Given the description of an element on the screen output the (x, y) to click on. 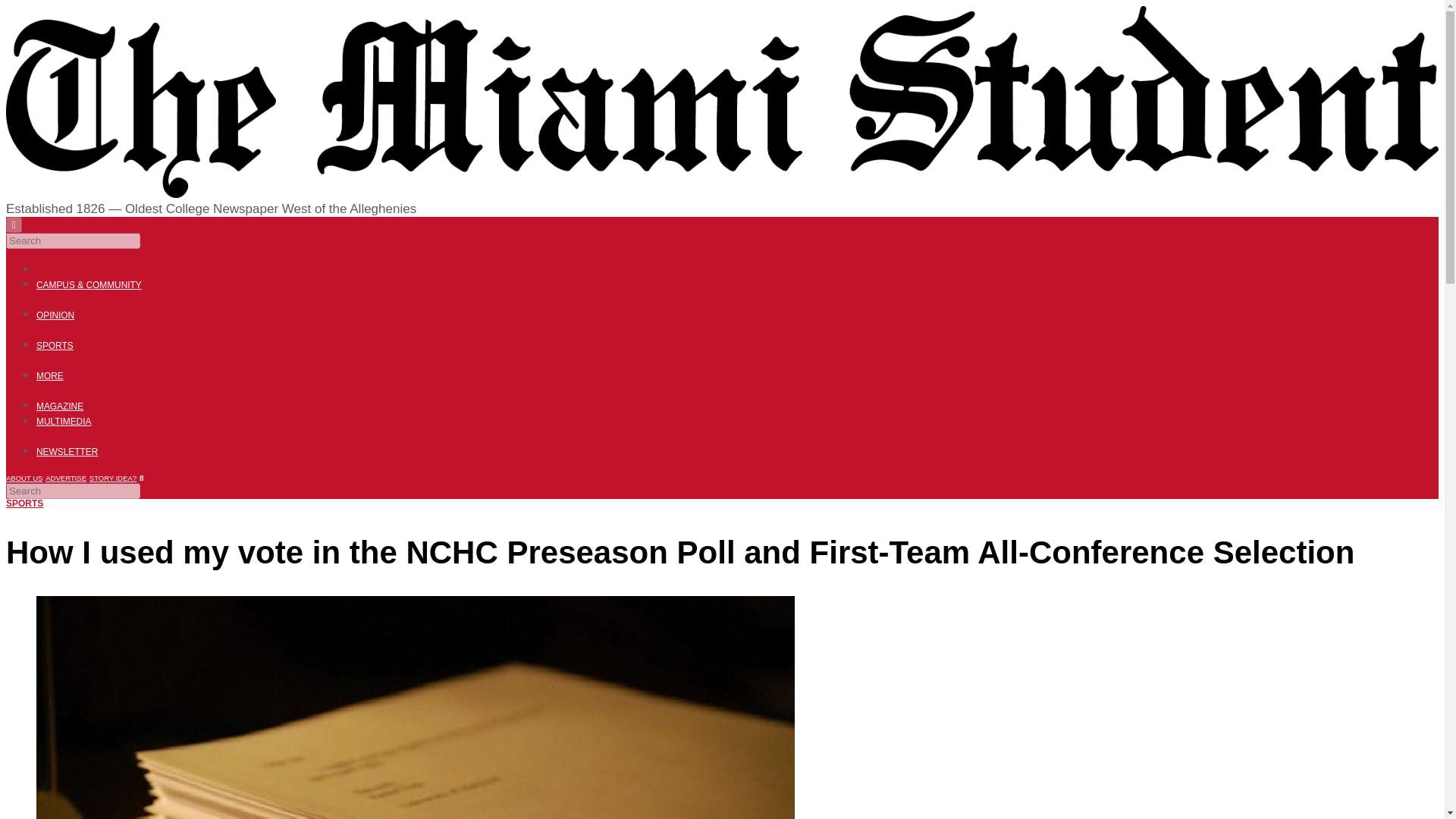
Letters to the Editor (347, 329)
Crime (537, 298)
Cartoons (433, 329)
Video (133, 435)
Entertainment (155, 390)
Oxford Community (825, 298)
MULTIMEDIA (63, 421)
Data (408, 390)
OPINION (55, 315)
Associated Student Government (278, 298)
Science (295, 390)
All Opinion (67, 329)
Greek Life (631, 298)
Miami Community (716, 298)
Print Edition (460, 390)
